Given the description of an element on the screen output the (x, y) to click on. 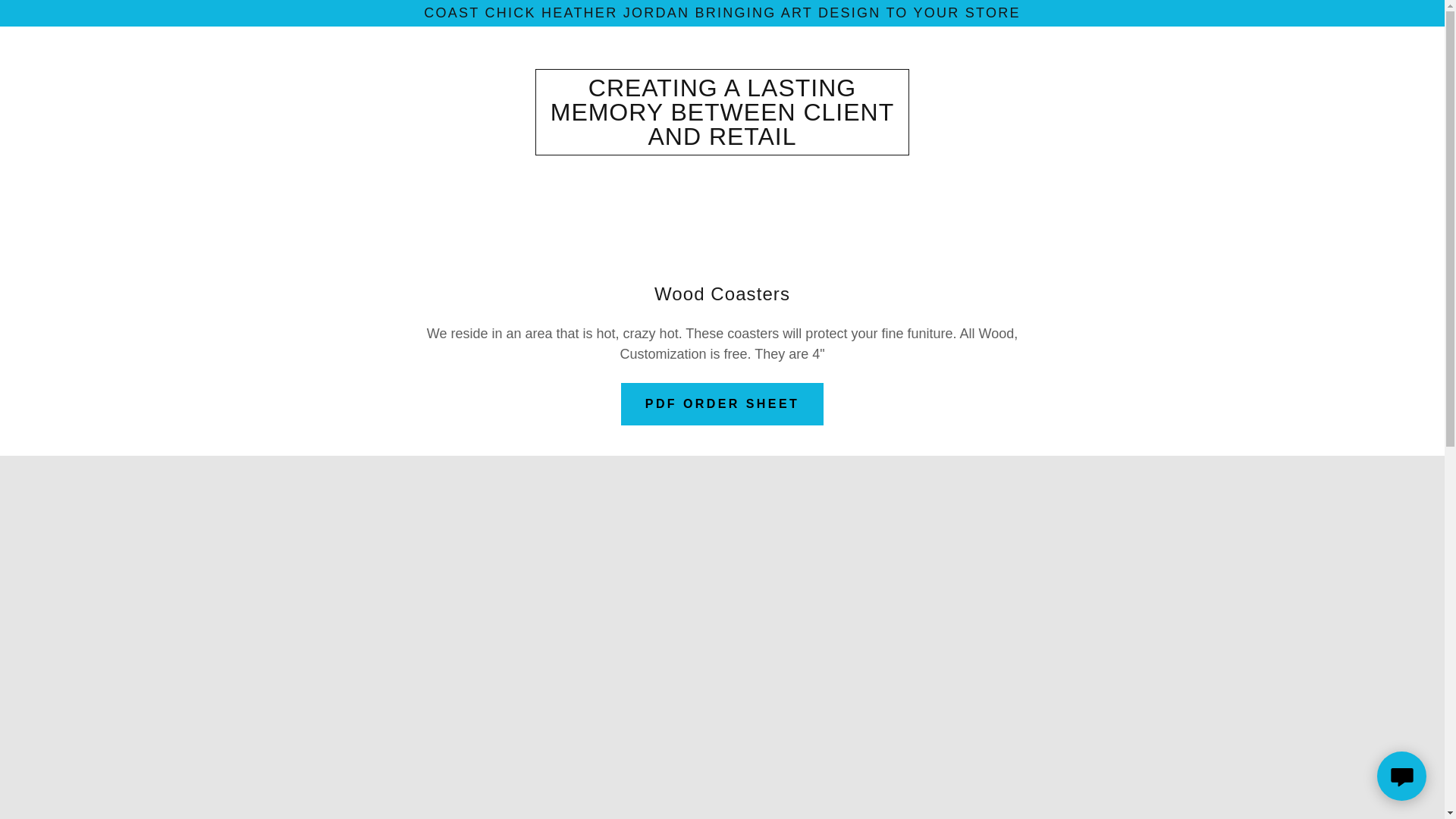
CREATING A LASTING MEMORY BETWEEN CLIENT AND RETAIL (721, 140)
PDF ORDER SHEET (722, 404)
creating a lasting memory between client and retail (721, 140)
